Given the description of an element on the screen output the (x, y) to click on. 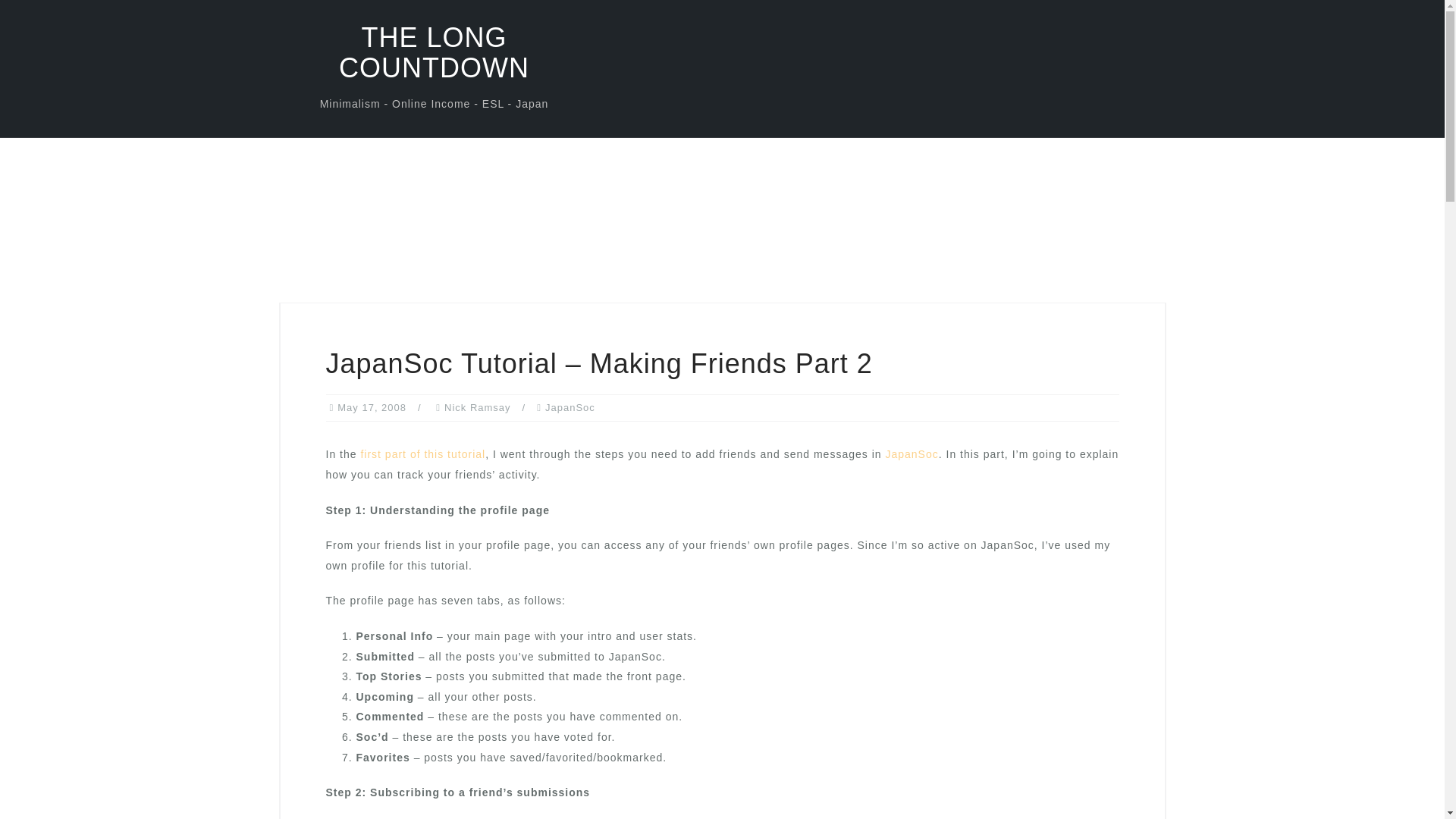
Search (54, 20)
May 17, 2008 (371, 407)
JapanSoc (911, 453)
JapanSoc.com (911, 453)
JapanSoc (569, 407)
first part of this tutorial (421, 453)
Nick Ramsay (477, 407)
Adding Friends and Messaging (421, 453)
THE LONG COUNTDOWN (434, 52)
